Given the description of an element on the screen output the (x, y) to click on. 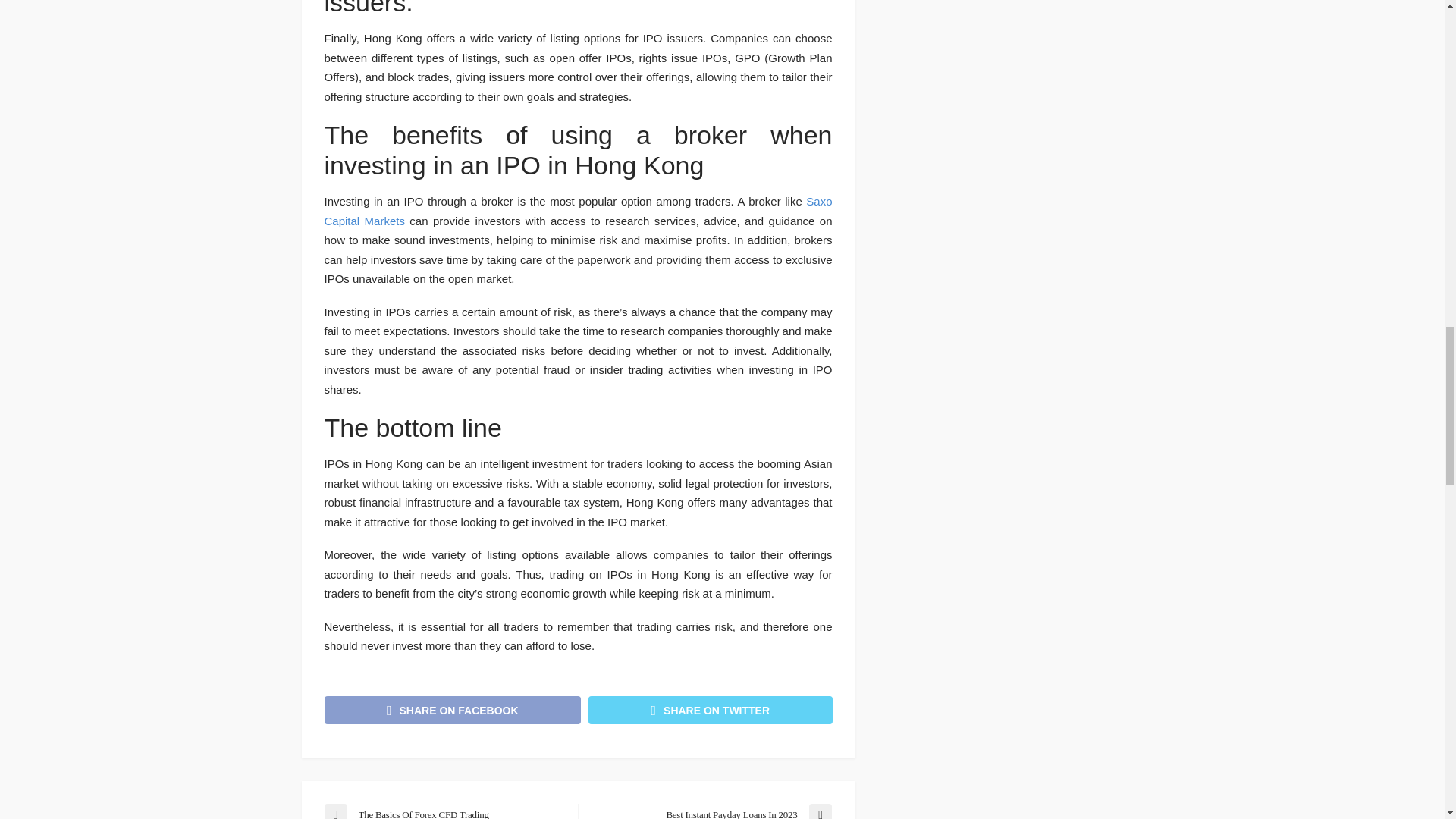
The Basics Of Forex CFD Trading (443, 811)
SHARE ON TWITTER (709, 709)
Best Instant Payday Loans In 2023 (711, 811)
The Basics Of Forex CFD Trading (443, 811)
SHARE ON FACEBOOK (452, 709)
Saxo Capital Markets (578, 210)
Best Instant Payday Loans In 2023 (711, 811)
